Given the description of an element on the screen output the (x, y) to click on. 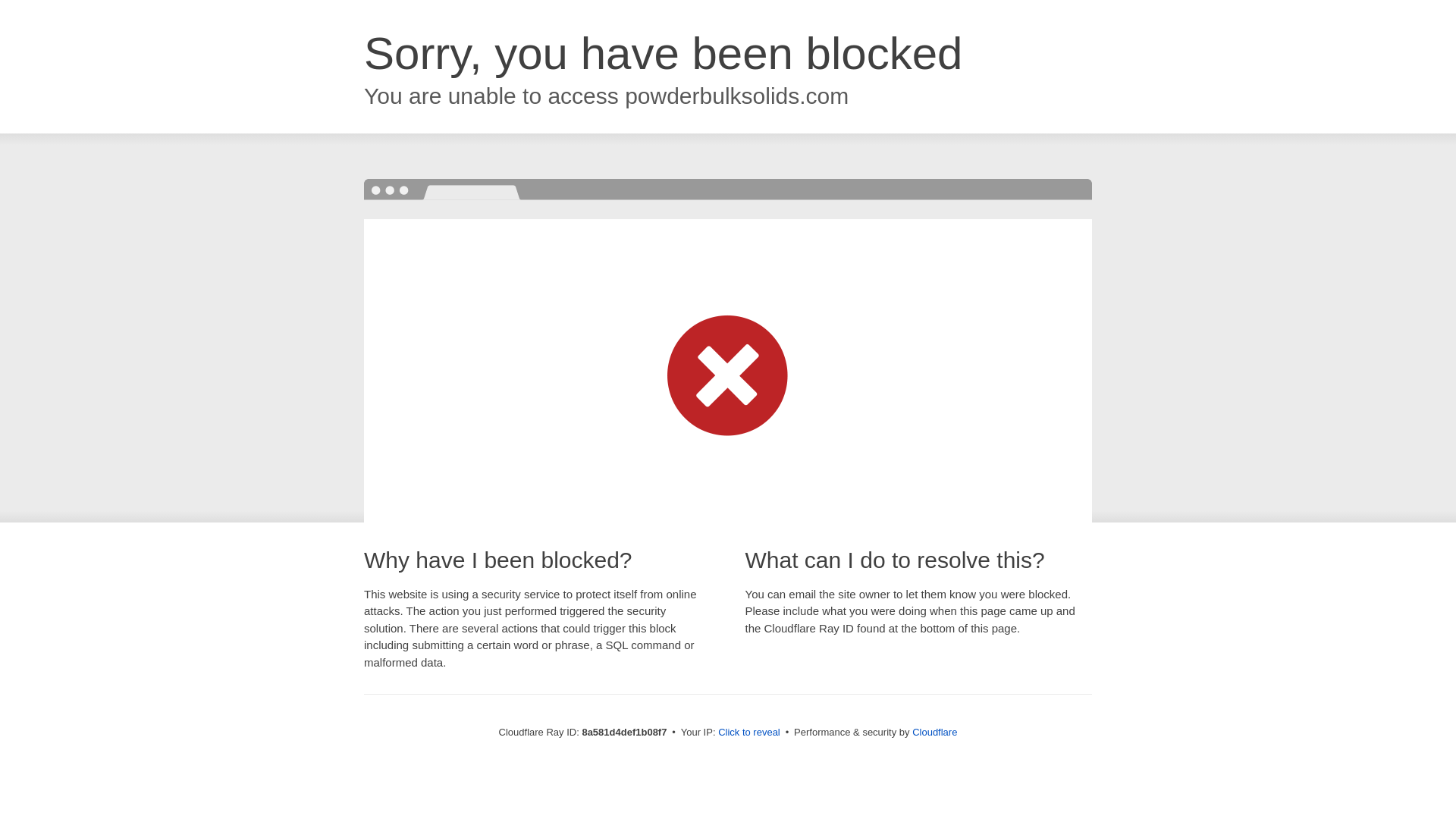
Click to reveal (748, 732)
Cloudflare (934, 731)
